Given the description of an element on the screen output the (x, y) to click on. 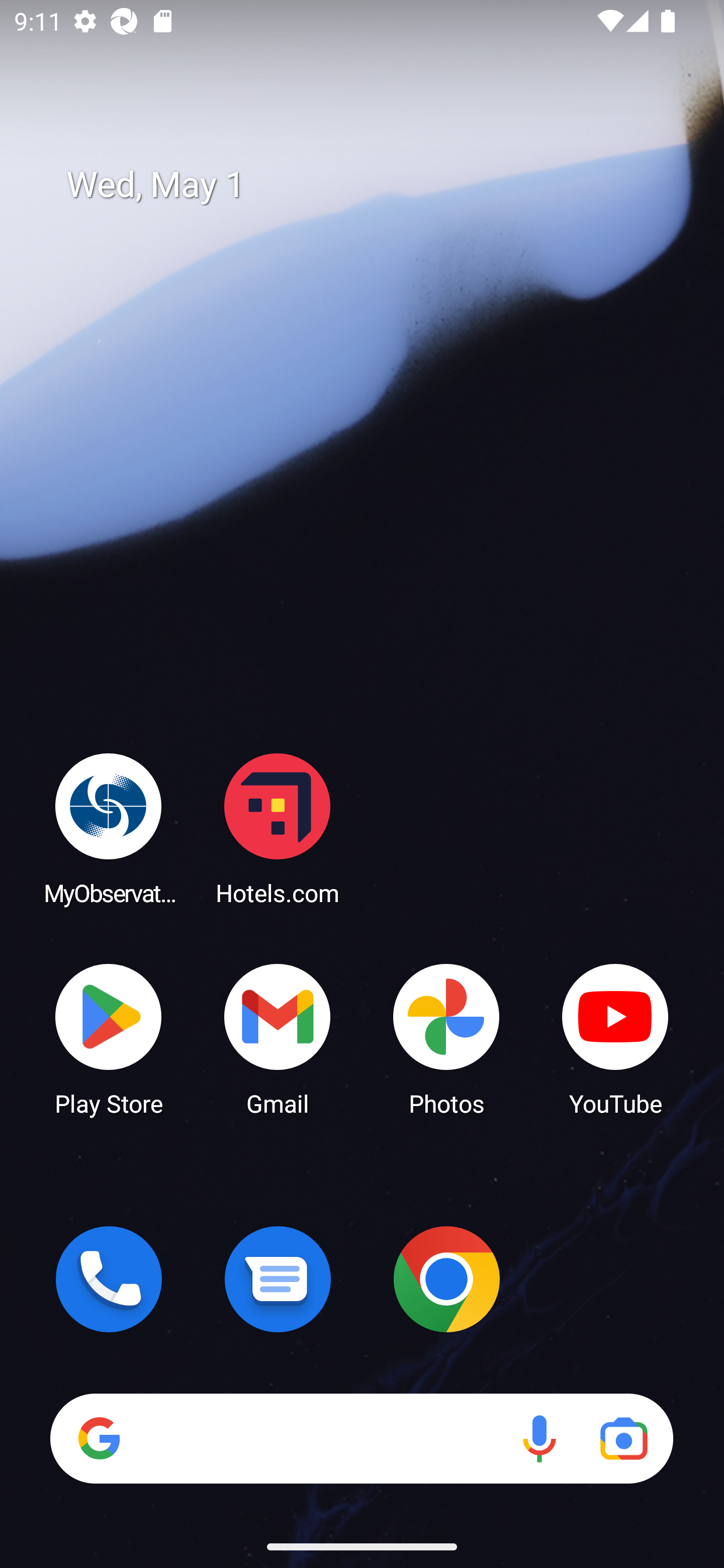
Wed, May 1 (375, 184)
MyObservatory (108, 828)
Hotels.com (277, 828)
Play Store (108, 1038)
Gmail (277, 1038)
Photos (445, 1038)
YouTube (615, 1038)
Phone (108, 1279)
Messages (277, 1279)
Chrome (446, 1279)
Search Voice search Google Lens (361, 1438)
Voice search (539, 1438)
Google Lens (623, 1438)
